Given the description of an element on the screen output the (x, y) to click on. 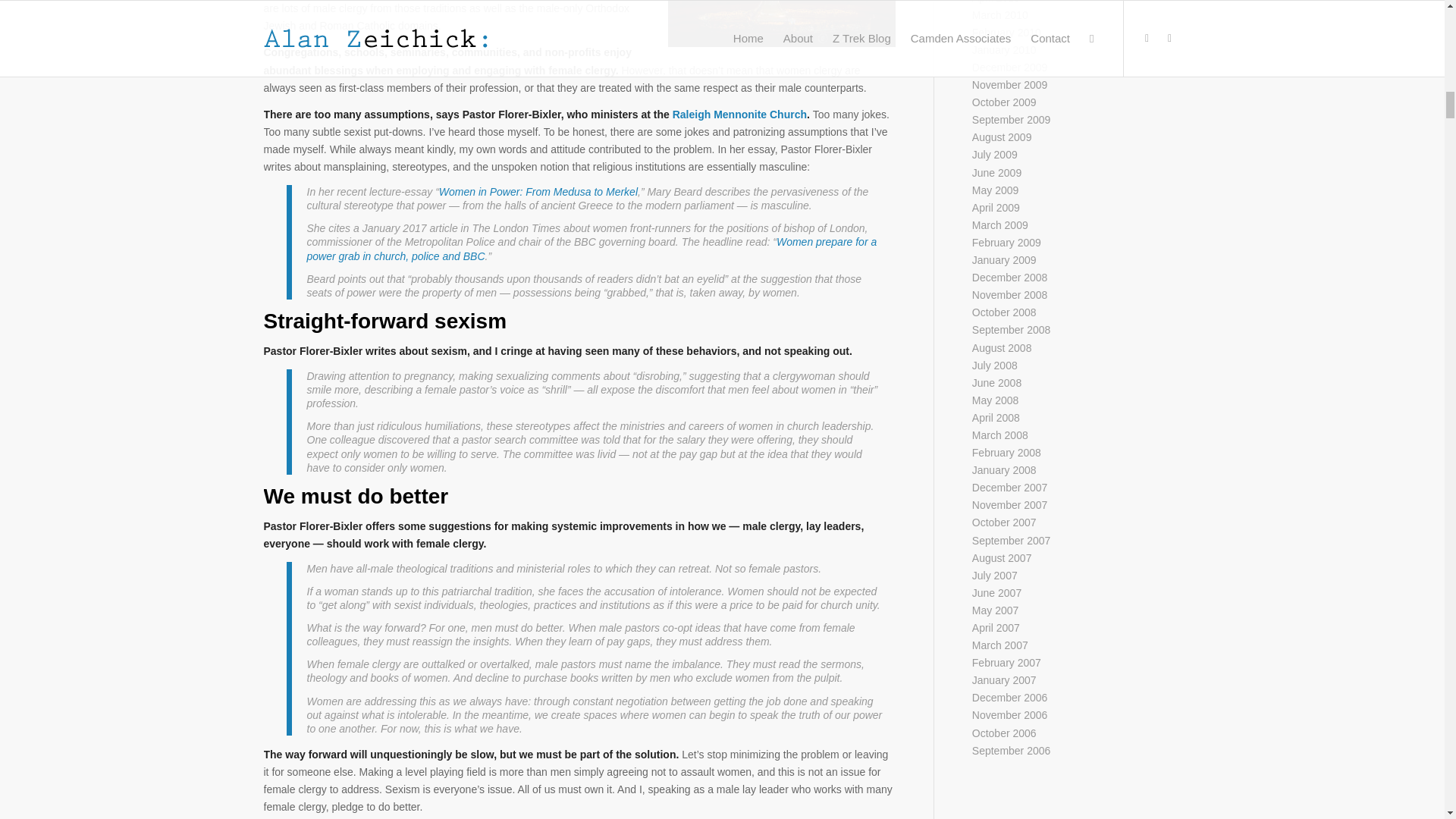
Women in Power: From Medusa to Merkel (538, 191)
Women prepare for a power grab in church, police and BBC (590, 248)
Raleigh Mennonite Church (739, 114)
